Given the description of an element on the screen output the (x, y) to click on. 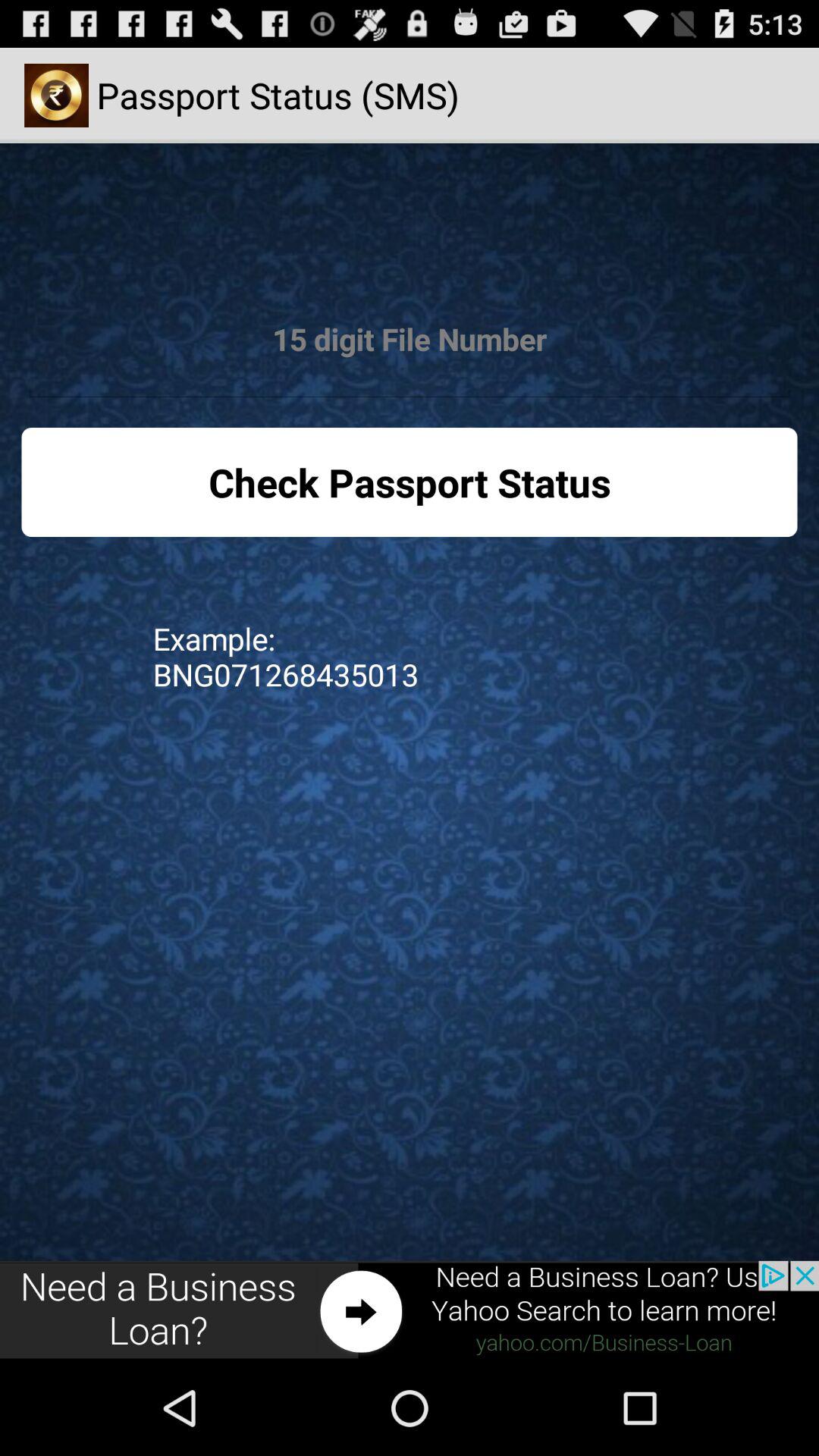
go to the advertisement 's website (409, 1310)
